Given the description of an element on the screen output the (x, y) to click on. 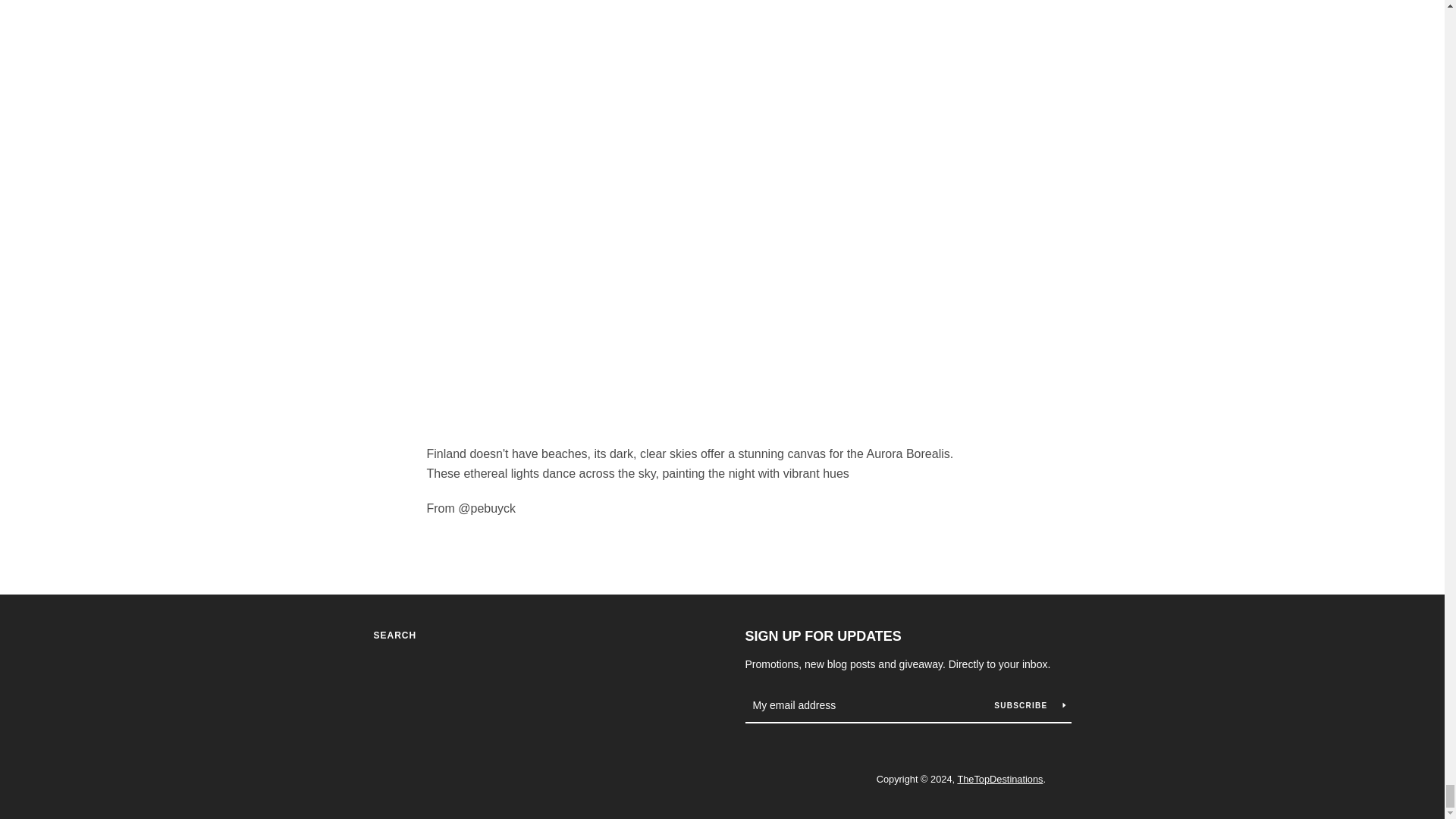
SUBSCRIBE (1029, 704)
TheTopDestinations (999, 778)
SEARCH (394, 634)
